Given the description of an element on the screen output the (x, y) to click on. 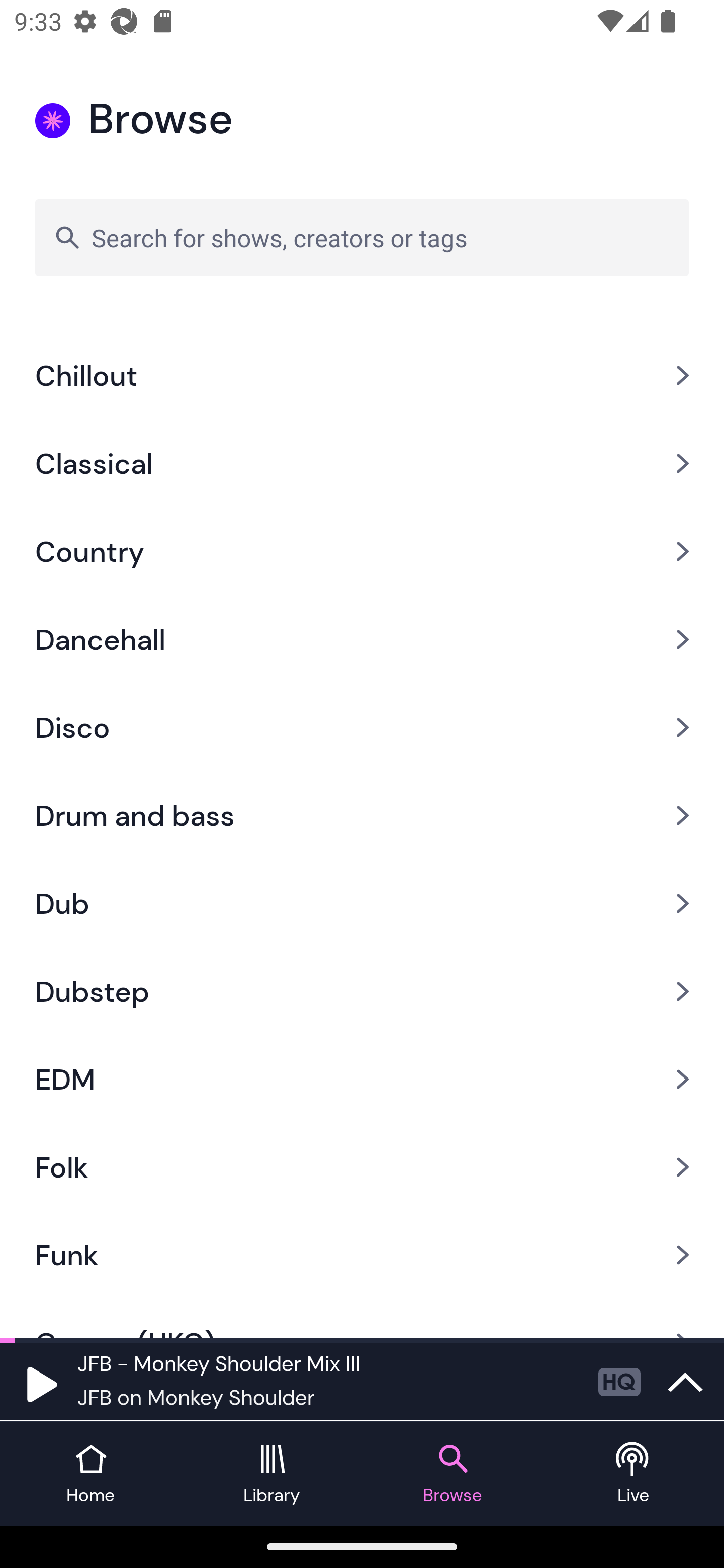
Search for shows, creators or tags (361, 237)
Chillout (361, 376)
Classical (361, 464)
Country (361, 551)
Dancehall (361, 639)
Disco (361, 727)
Drum and bass (361, 815)
Dub (361, 903)
Dubstep (361, 990)
EDM (361, 1078)
Folk (361, 1166)
Funk (361, 1254)
Home tab Home (90, 1473)
Library tab Library (271, 1473)
Browse tab Browse (452, 1473)
Live tab Live (633, 1473)
